Given the description of an element on the screen output the (x, y) to click on. 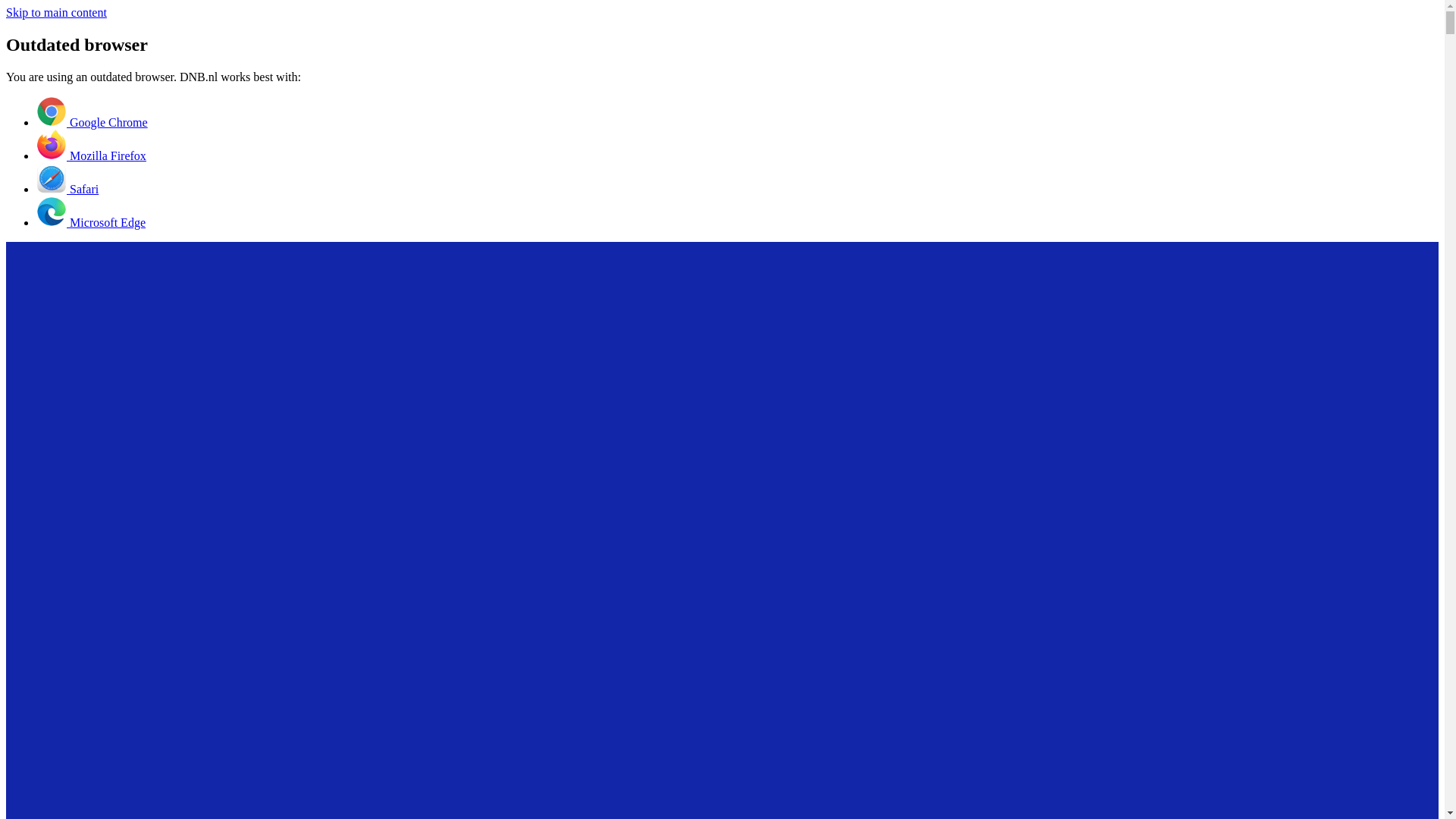
Safari (67, 188)
Google Chrome (92, 122)
Mozilla Firefox (91, 155)
Microsoft Edge (90, 222)
Skip to main content (55, 11)
